Given the description of an element on the screen output the (x, y) to click on. 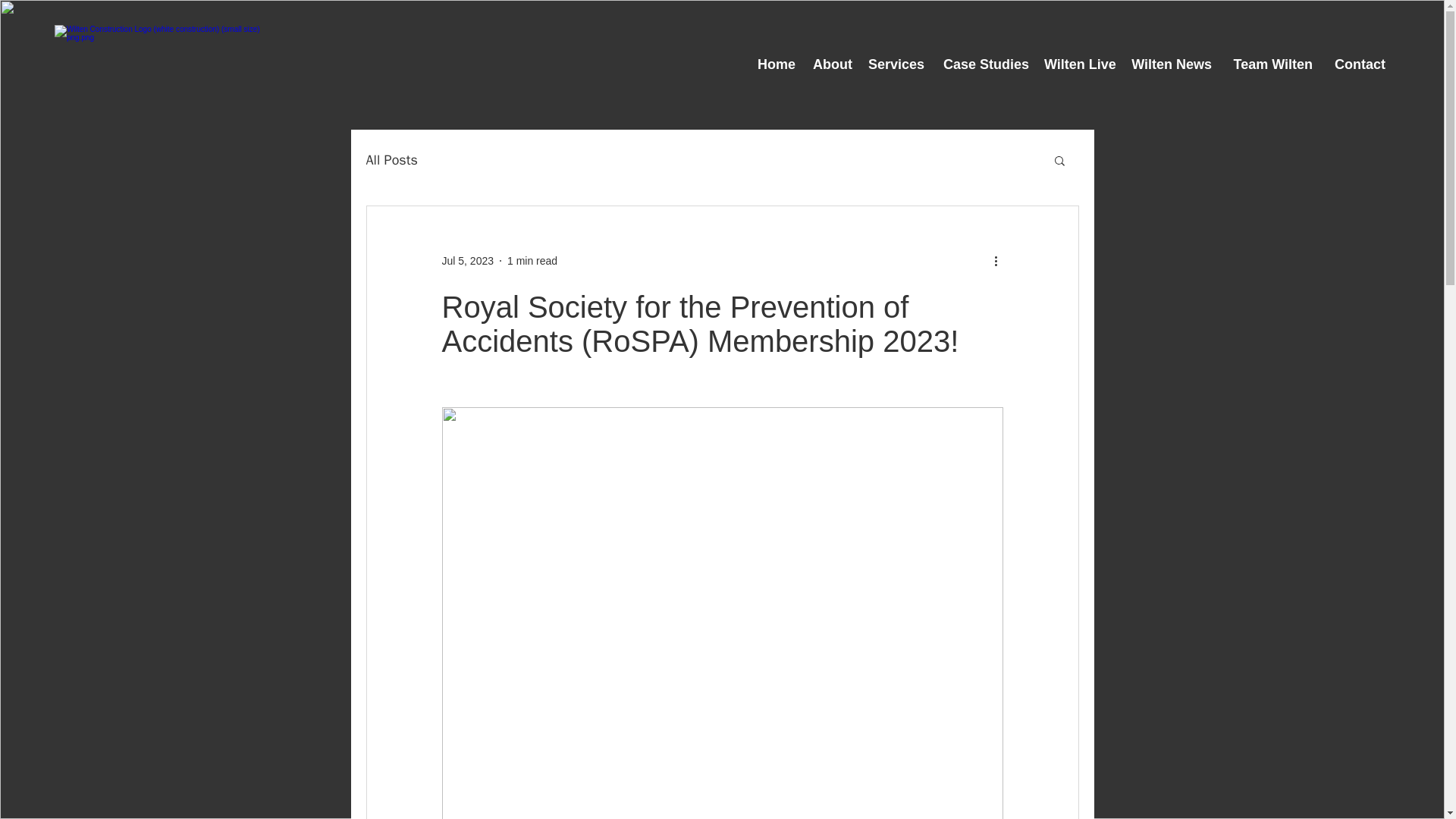
Jul 5, 2023 (467, 260)
Wilten Live (1079, 64)
Wilten News (1171, 64)
Contact (1356, 64)
About (831, 64)
Services (895, 64)
Case Studies (983, 64)
Team Wilten (1270, 64)
1 min read (531, 260)
All Posts (390, 159)
Home (774, 64)
